Given the description of an element on the screen output the (x, y) to click on. 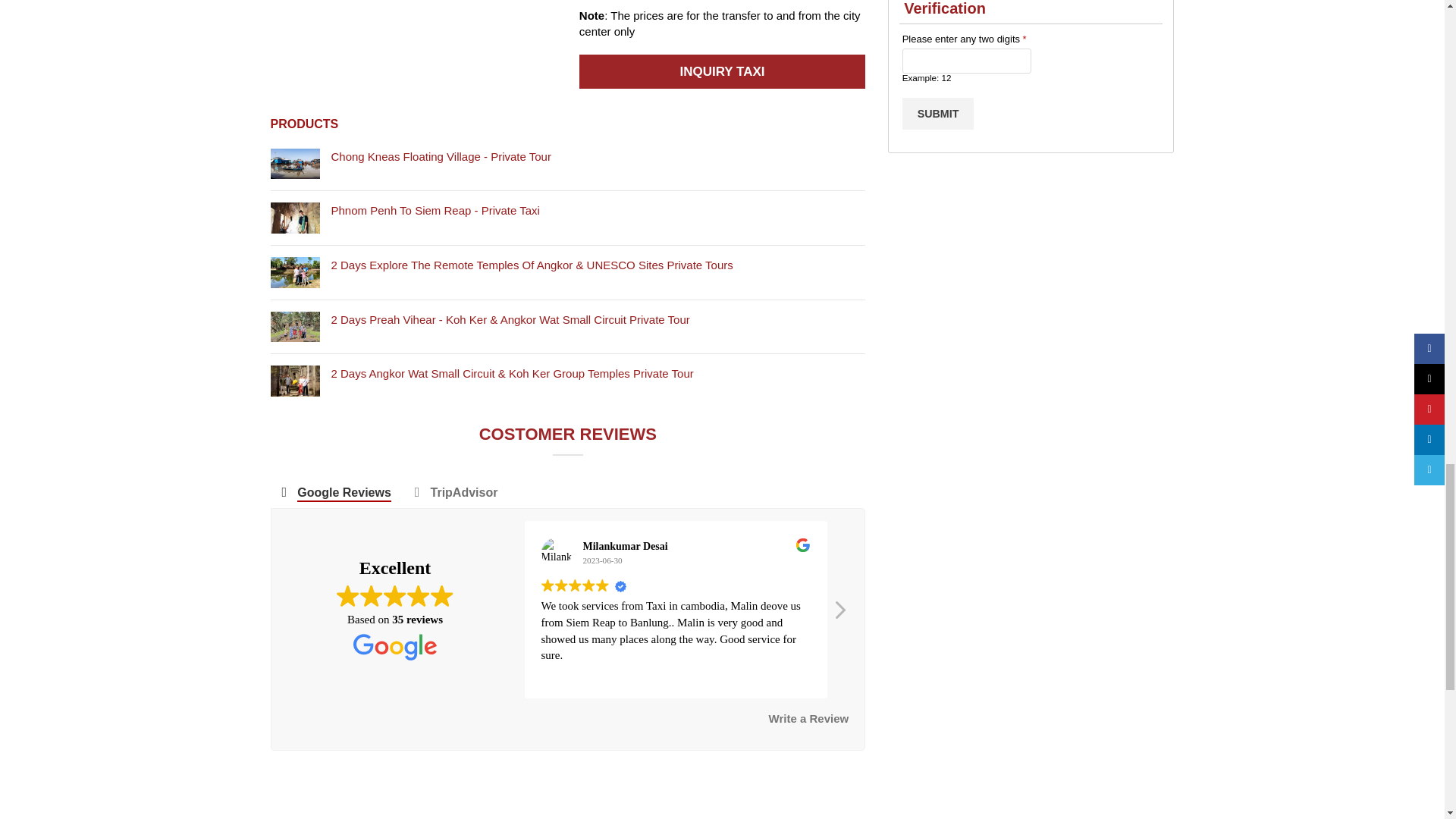
Phnom Penh to Siem Reap - Private Taxi (293, 217)
Chong Kneas Floating Village - Private Tour (597, 156)
Submit (938, 113)
Phnom Penh to Siem Reap - Private Taxi (597, 210)
Inquiry Taxi (721, 71)
Chong Kneas Floating Village - Private Tour (293, 163)
